Given the description of an element on the screen output the (x, y) to click on. 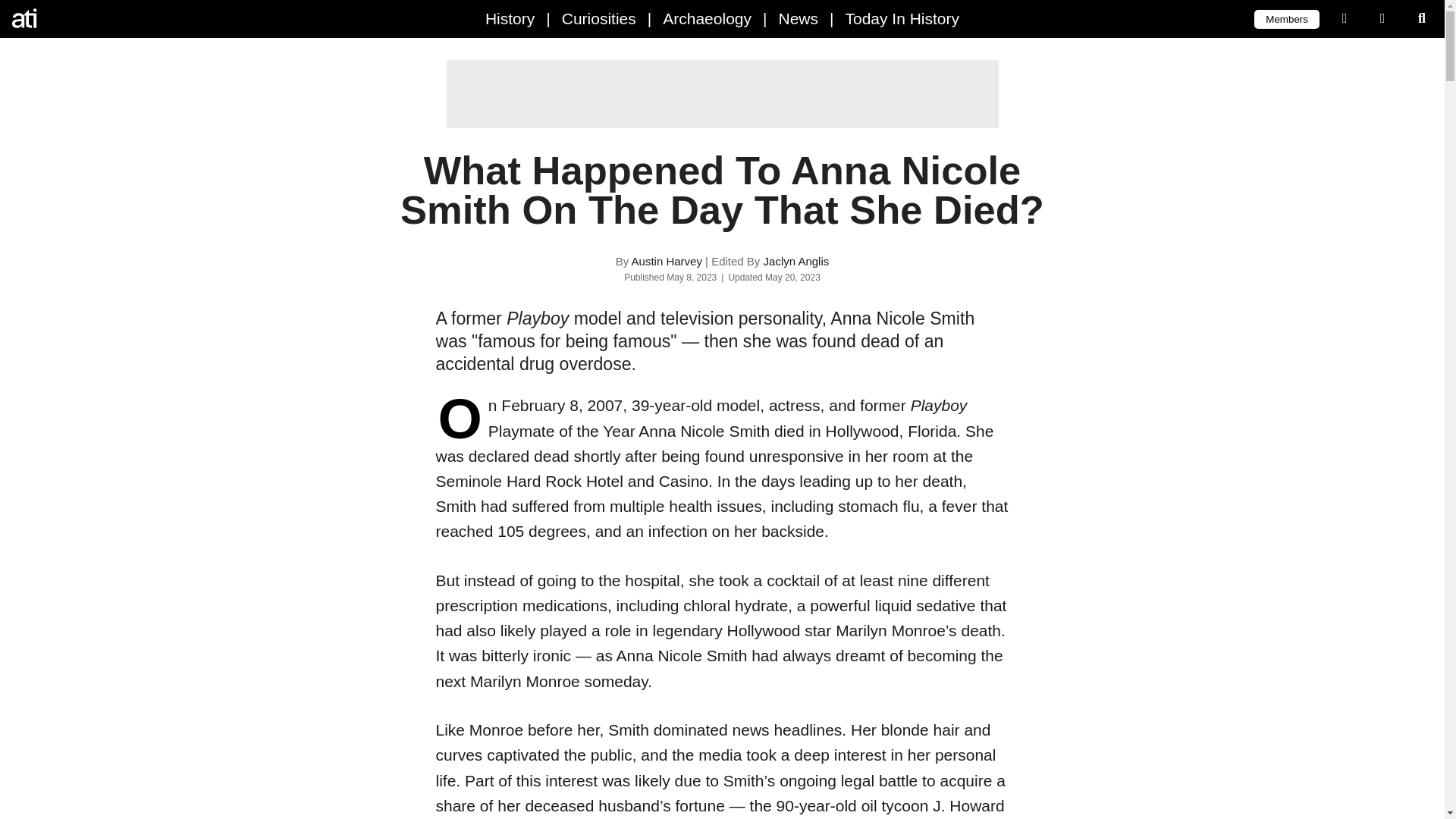
Austin Harvey (666, 260)
Curiosities (598, 18)
Members (1286, 18)
History (510, 18)
All That's Interesting (75, 18)
News (798, 18)
Today In History (901, 18)
Archaeology (706, 18)
Jaclyn Anglis (795, 260)
